Given the description of an element on the screen output the (x, y) to click on. 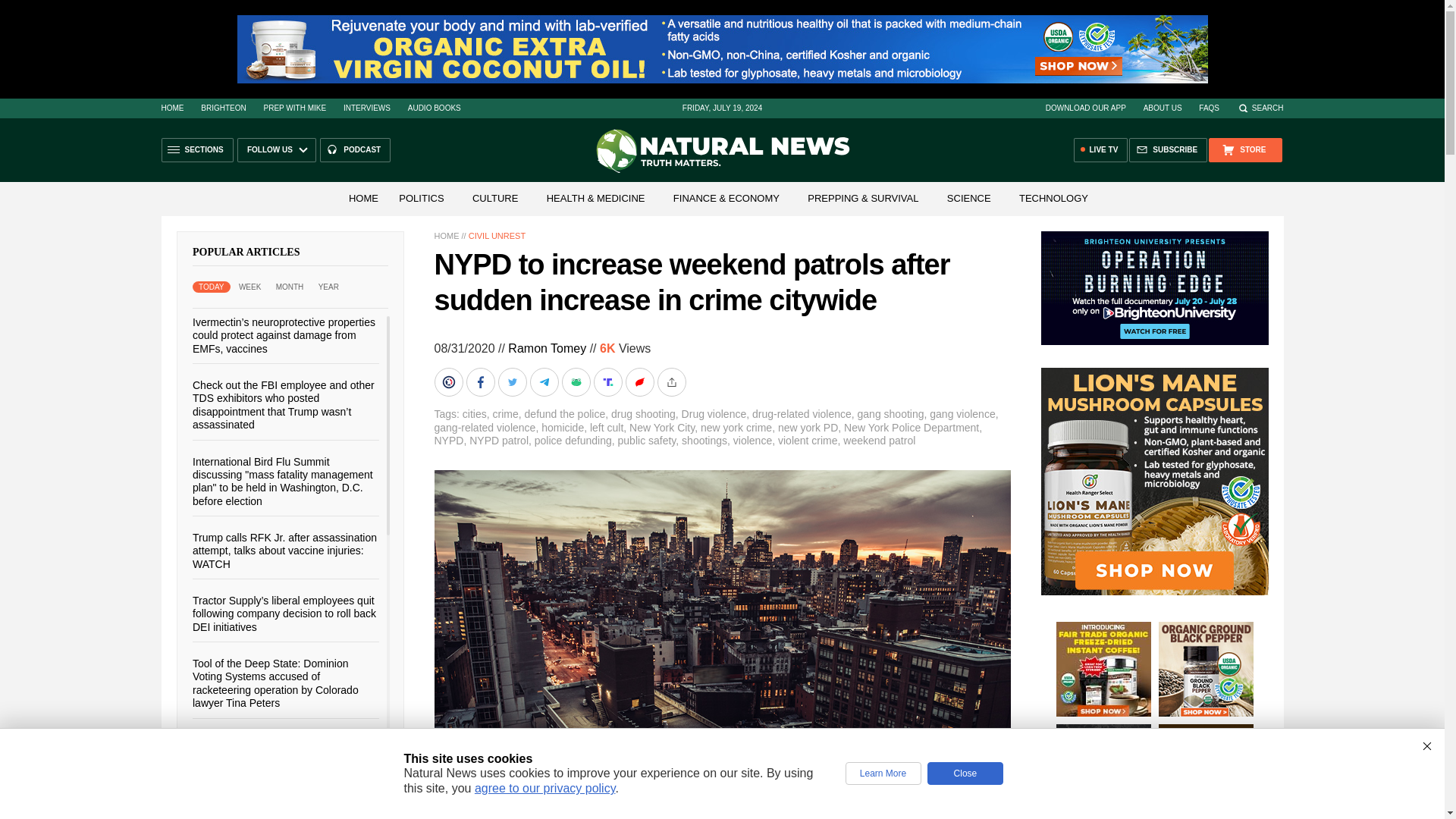
INTERVIEWS (366, 108)
SEARCH (1260, 108)
LIVE TV (1101, 150)
PREP WITH MIKE (294, 108)
Share on Truth.Social (608, 381)
DOWNLOAD OUR APP (1085, 108)
Share on Facebook (481, 381)
Share on Brighteon.Social (449, 381)
SUBSCRIBE (1168, 150)
Search (1260, 108)
Share on GAB (576, 381)
STORE (1244, 150)
BRIGHTEON (223, 108)
PODCAST (355, 150)
Share on Twitter (513, 381)
